Given the description of an element on the screen output the (x, y) to click on. 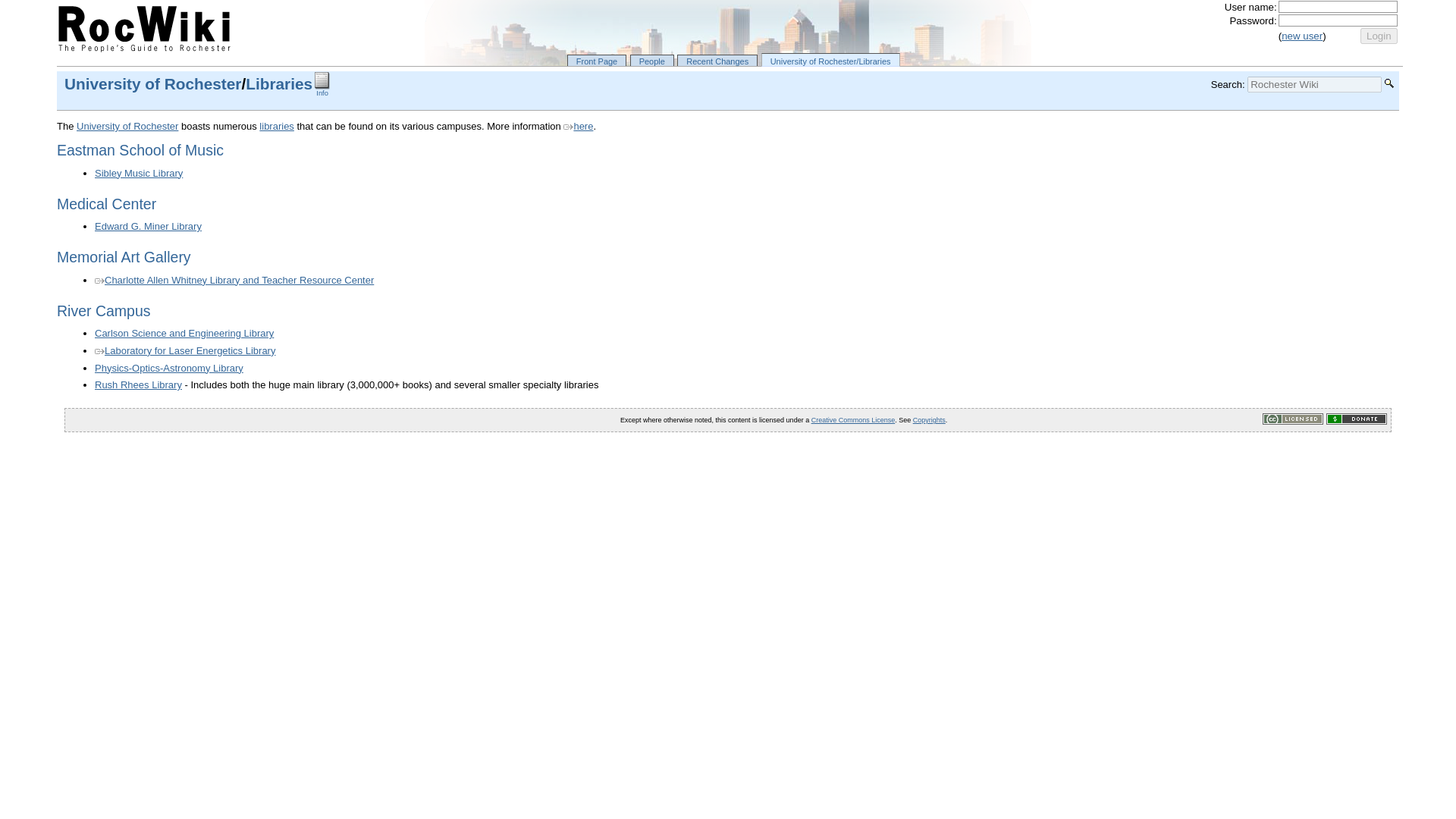
Libraries (276, 125)
Libraries (279, 83)
Rush Rhees Library (138, 384)
Memorial Art Gallery (123, 256)
Info (321, 90)
University of Rochester Medical Center (105, 203)
Charlotte Allen Whitney Library and Teacher Resource Center (234, 279)
Creative Commons License (852, 420)
Edward G. Miner Library (148, 225)
University of Rochester (127, 125)
University of Rochester (152, 83)
Physics-Optics-Astronomy Library (168, 367)
River Campus (103, 310)
Medical Center (105, 203)
Eastman School of Music (140, 149)
